Given the description of an element on the screen output the (x, y) to click on. 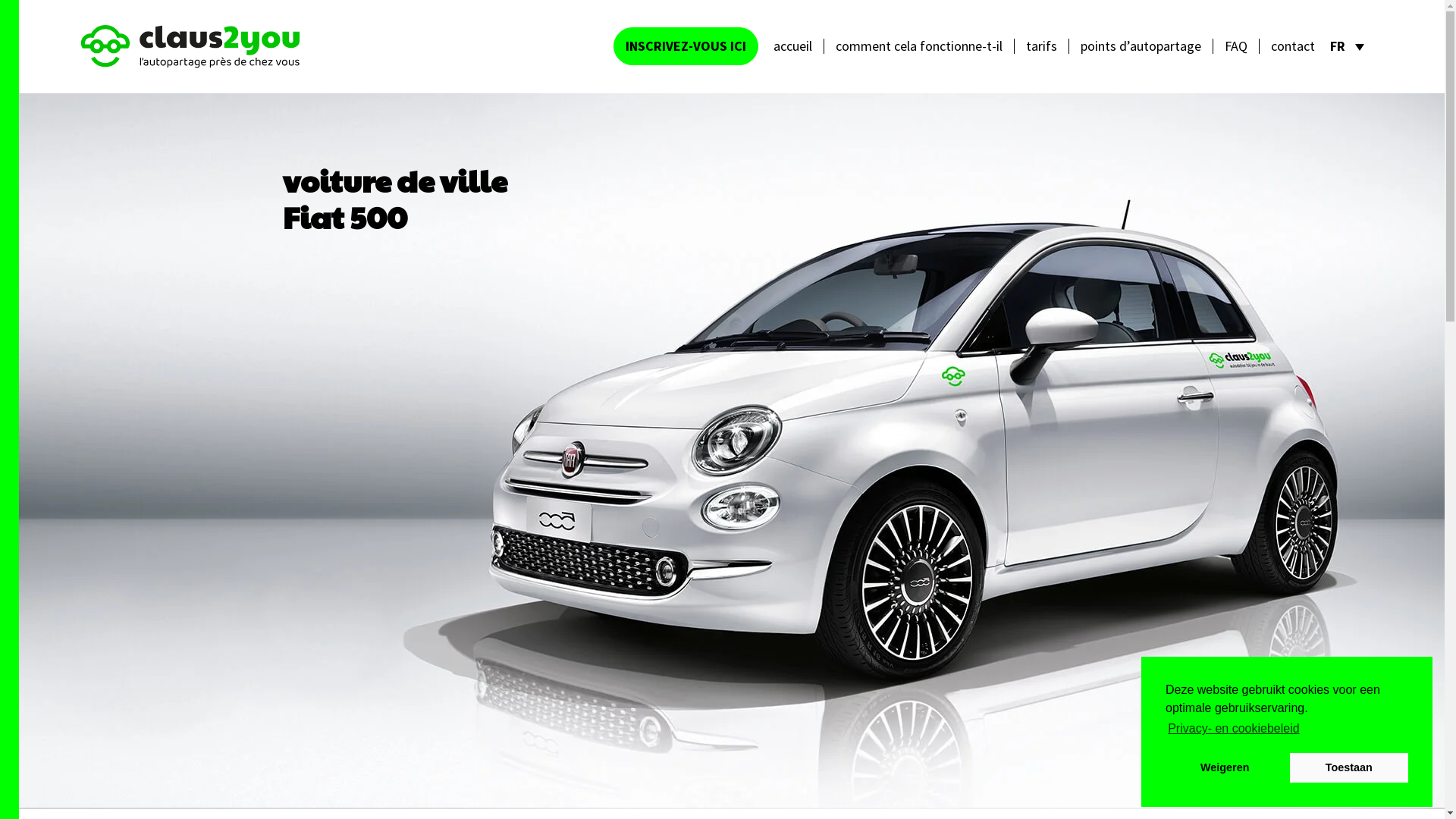
Toestaan Element type: text (1348, 767)
INSCRIVEZ-VOUS ICI Element type: text (685, 46)
FAQ Element type: text (1236, 45)
Weigeren Element type: text (1224, 767)
accueil Element type: text (792, 45)
contact Element type: text (1292, 45)
FR Element type: text (1346, 45)
tarifs Element type: text (1041, 45)
Privacy- en cookiebeleid Element type: text (1233, 728)
comment cela fonctionne-t-il Element type: text (919, 45)
